Given the description of an element on the screen output the (x, y) to click on. 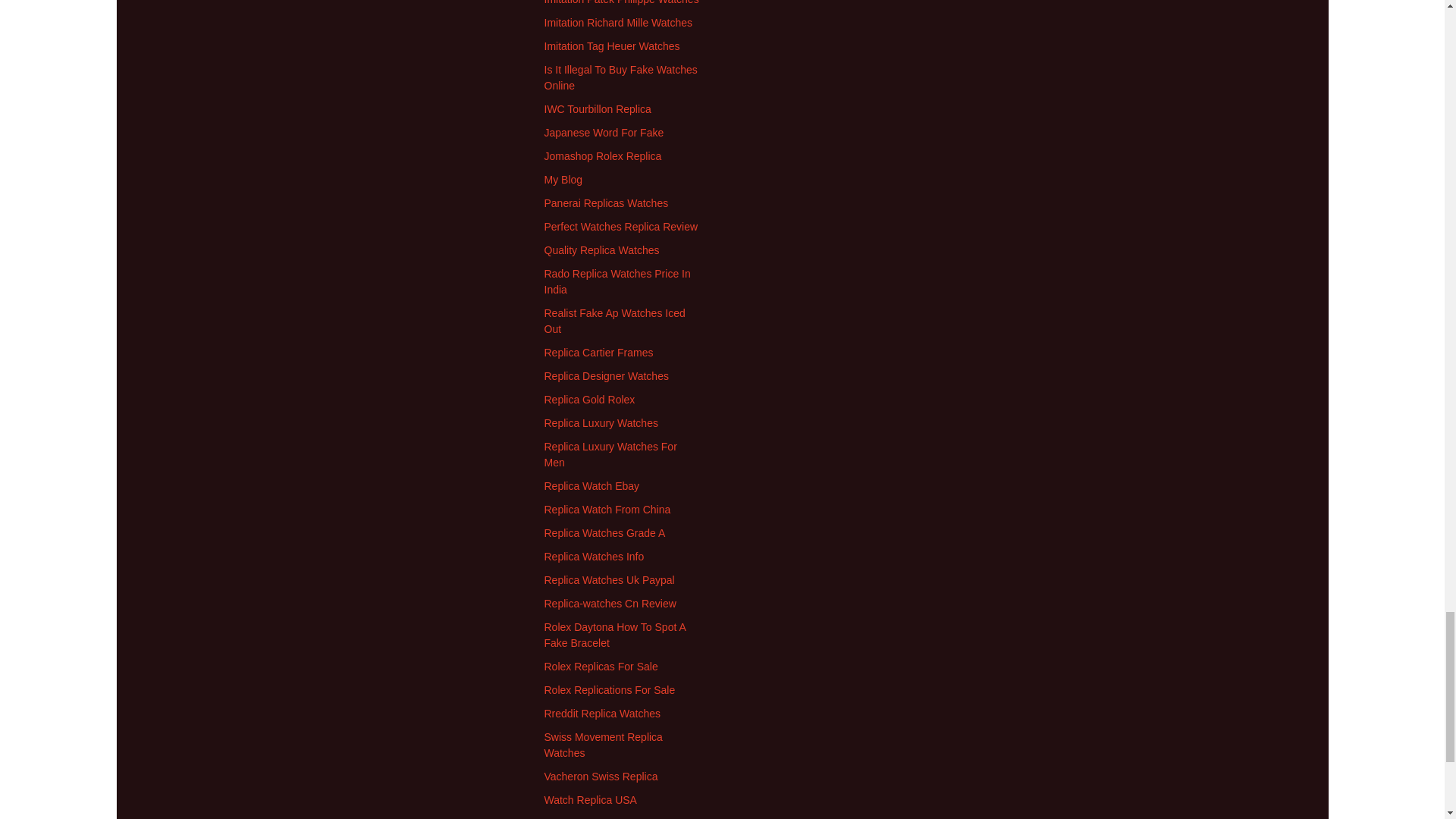
Imitation Patek Philippe Watches (621, 2)
Imitation Richard Mille Watches (618, 22)
Imitation Tag Heuer Watches (611, 46)
